Given the description of an element on the screen output the (x, y) to click on. 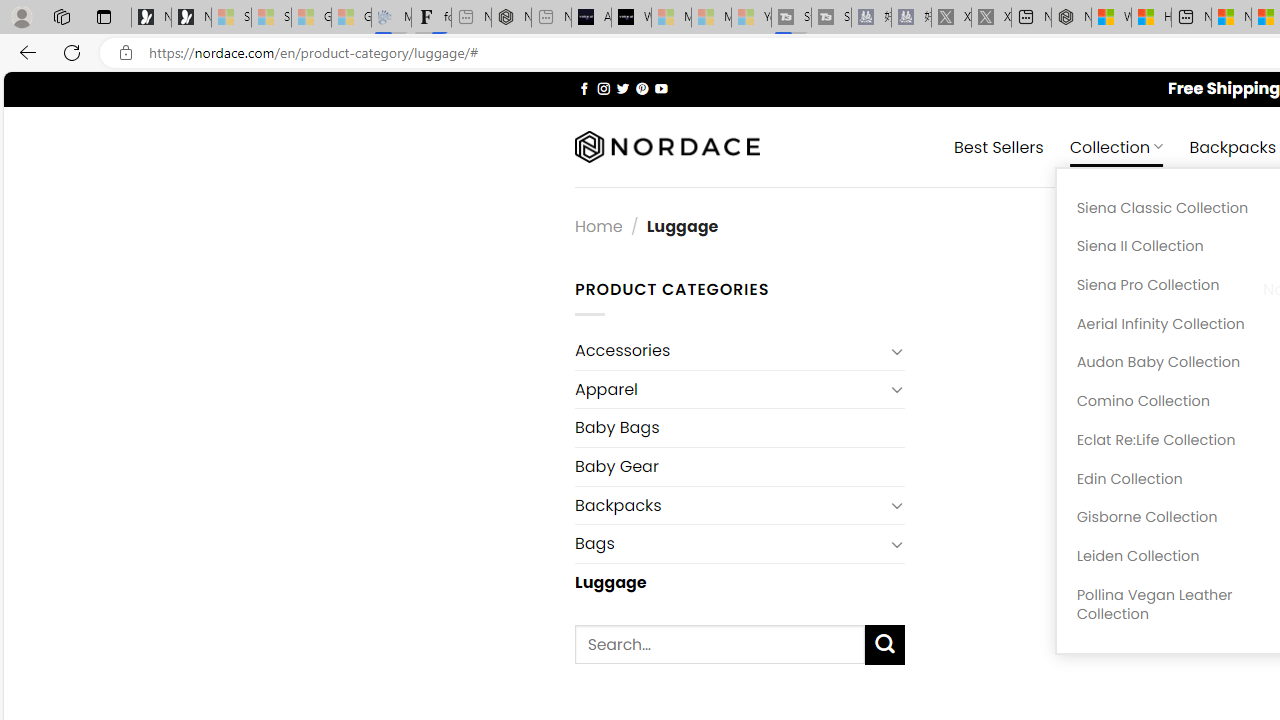
Submit (884, 644)
Follow on Facebook (584, 88)
Wildlife - MSN (1111, 17)
Backpacks (729, 505)
 Best Sellers (998, 146)
  Best Sellers (998, 146)
Home (598, 227)
Newsletter Sign Up (191, 17)
Nordace (667, 147)
Nordace - #1 Japanese Best-Seller - Siena Smart Backpack (511, 17)
Streaming Coverage | T3 - Sleeping (791, 17)
New tab - Sleeping (551, 17)
